Given the description of an element on the screen output the (x, y) to click on. 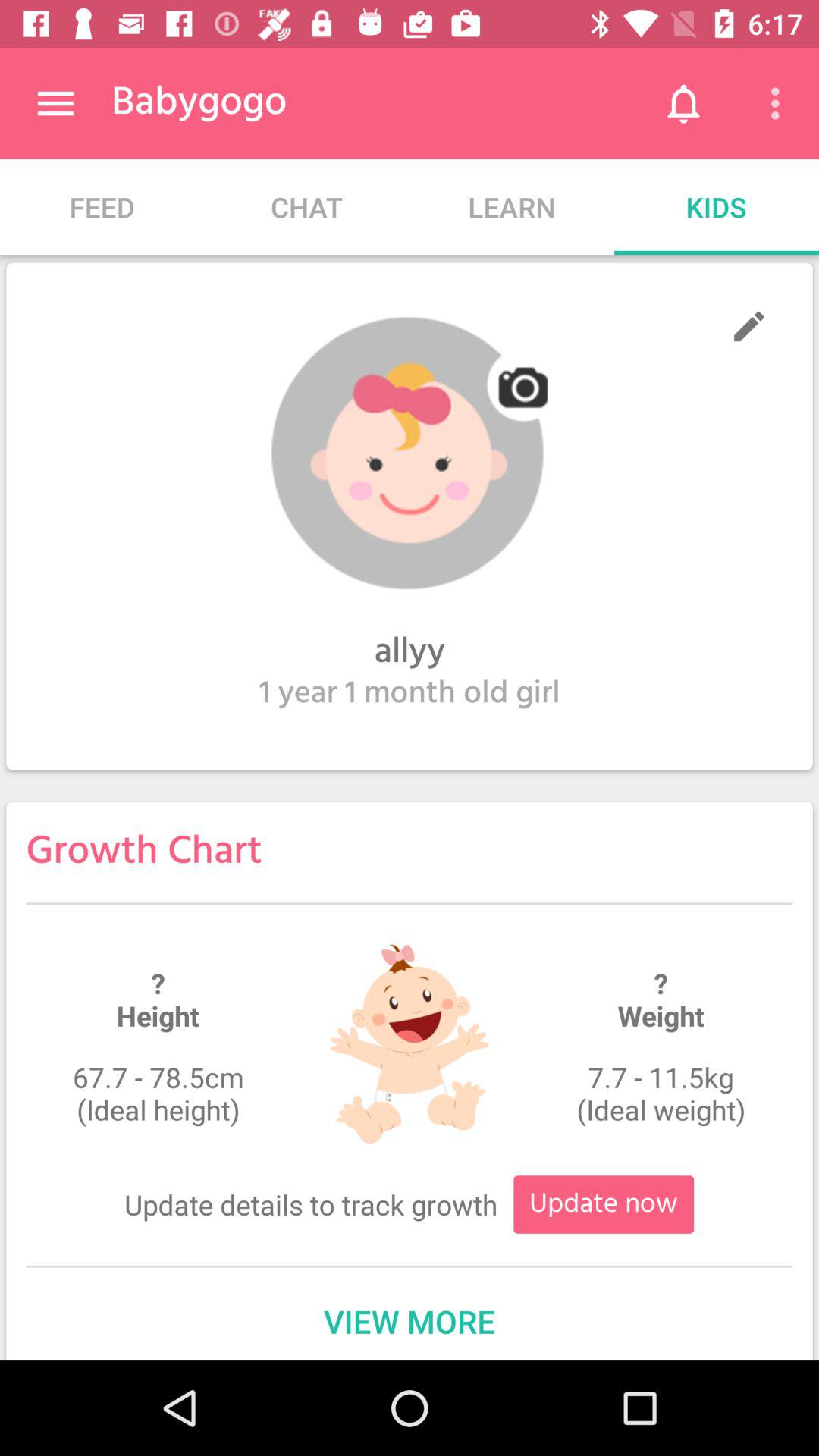
edit profile (748, 326)
